Given the description of an element on the screen output the (x, y) to click on. 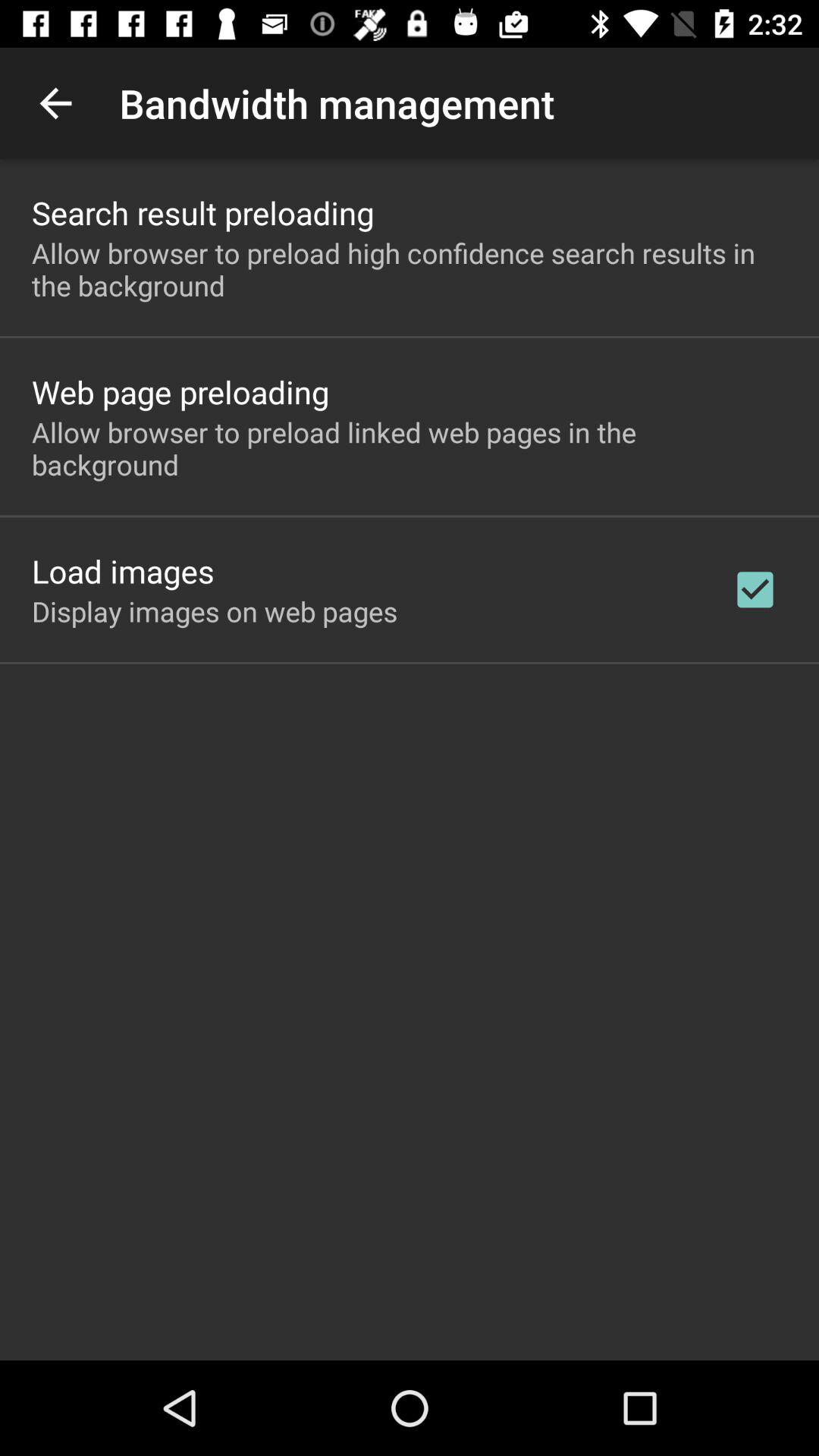
press app above the allow browser to (202, 212)
